Given the description of an element on the screen output the (x, y) to click on. 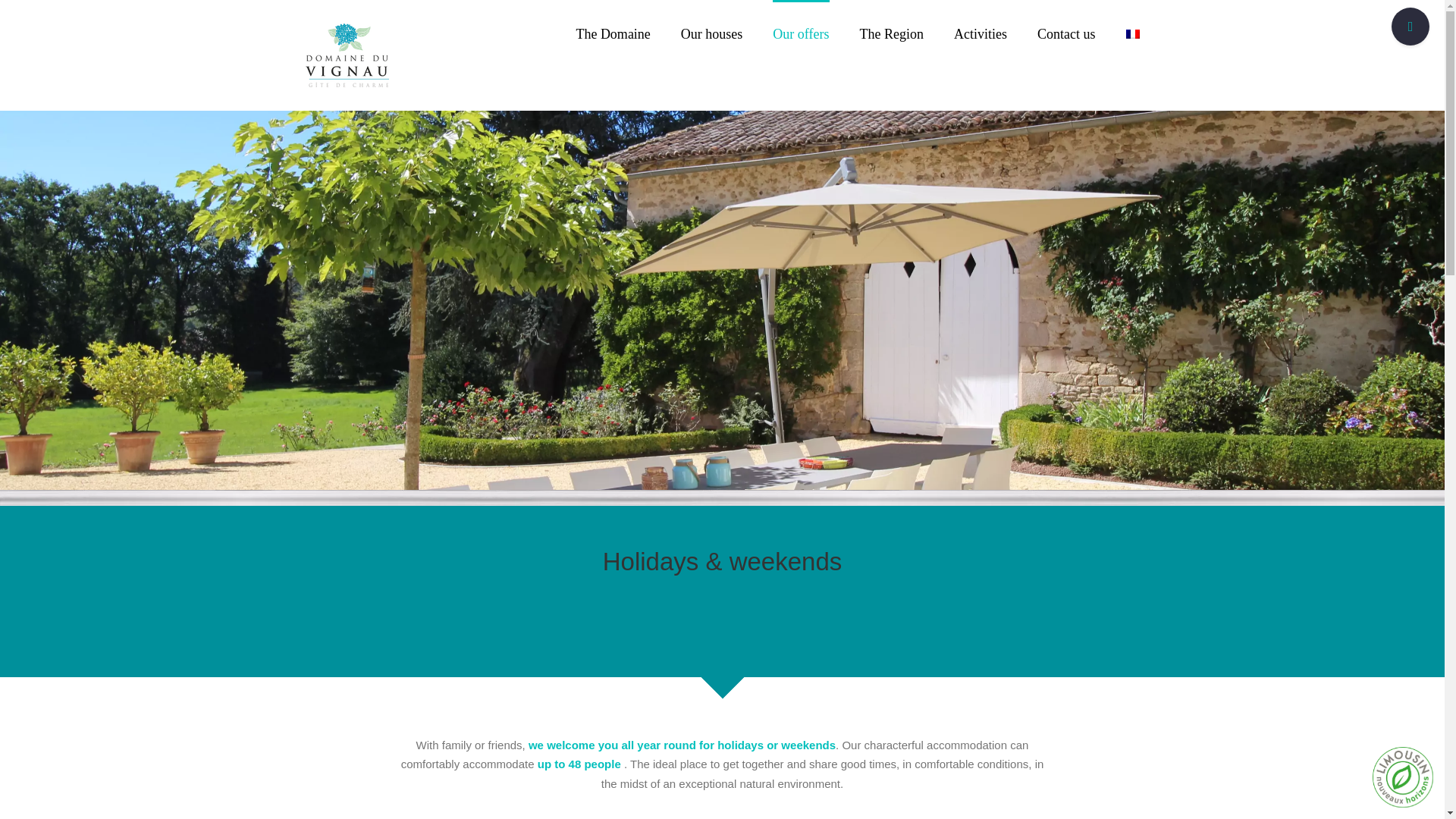
The Domaine (612, 32)
Our houses (711, 32)
Contact us (1066, 32)
The Region (891, 32)
